Given the description of an element on the screen output the (x, y) to click on. 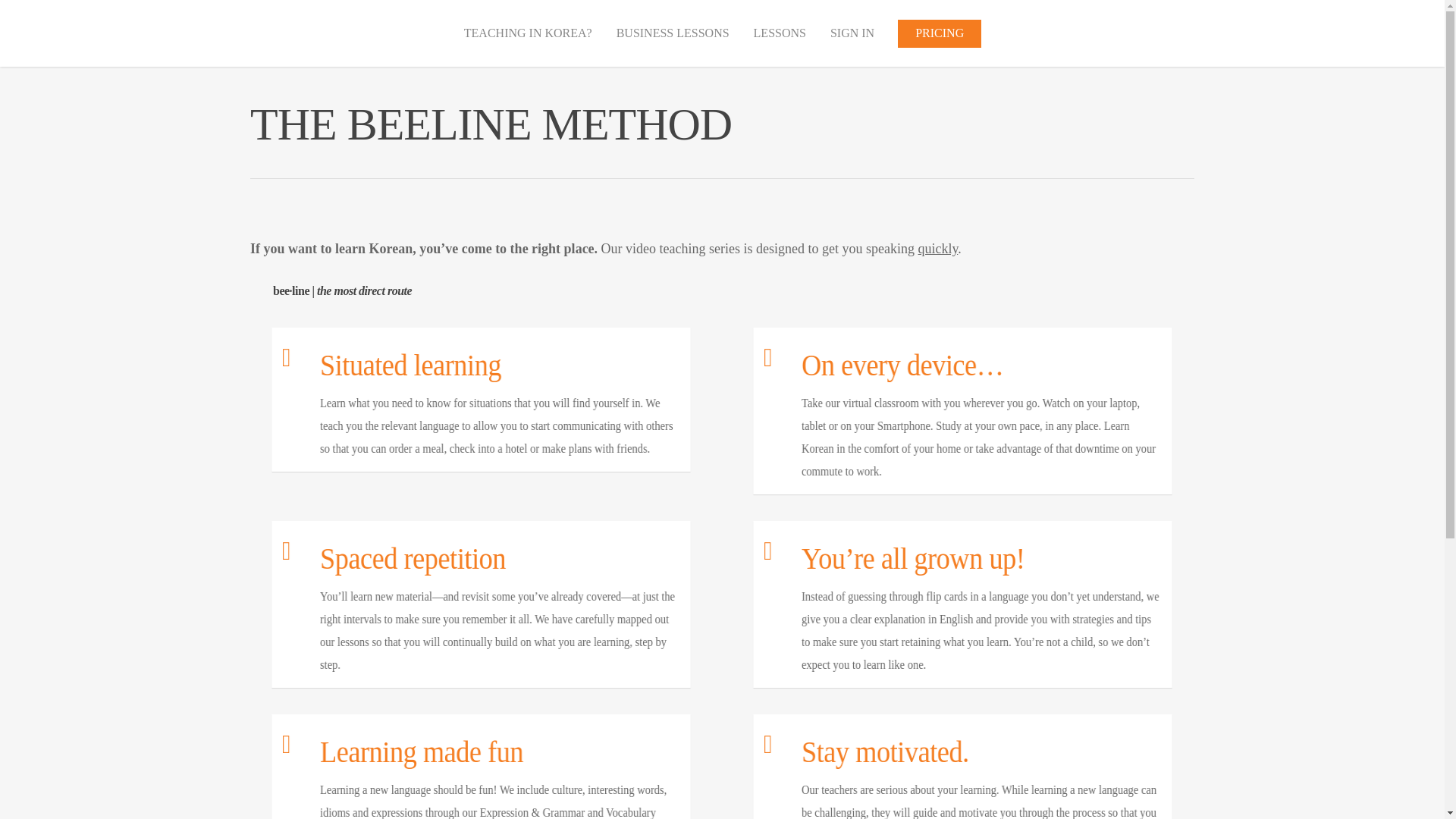
TEACHING IN KOREA? (528, 41)
PRICING (939, 41)
BUSINESS LESSONS (673, 41)
SIGN IN (852, 41)
LESSONS (779, 41)
